Given the description of an element on the screen output the (x, y) to click on. 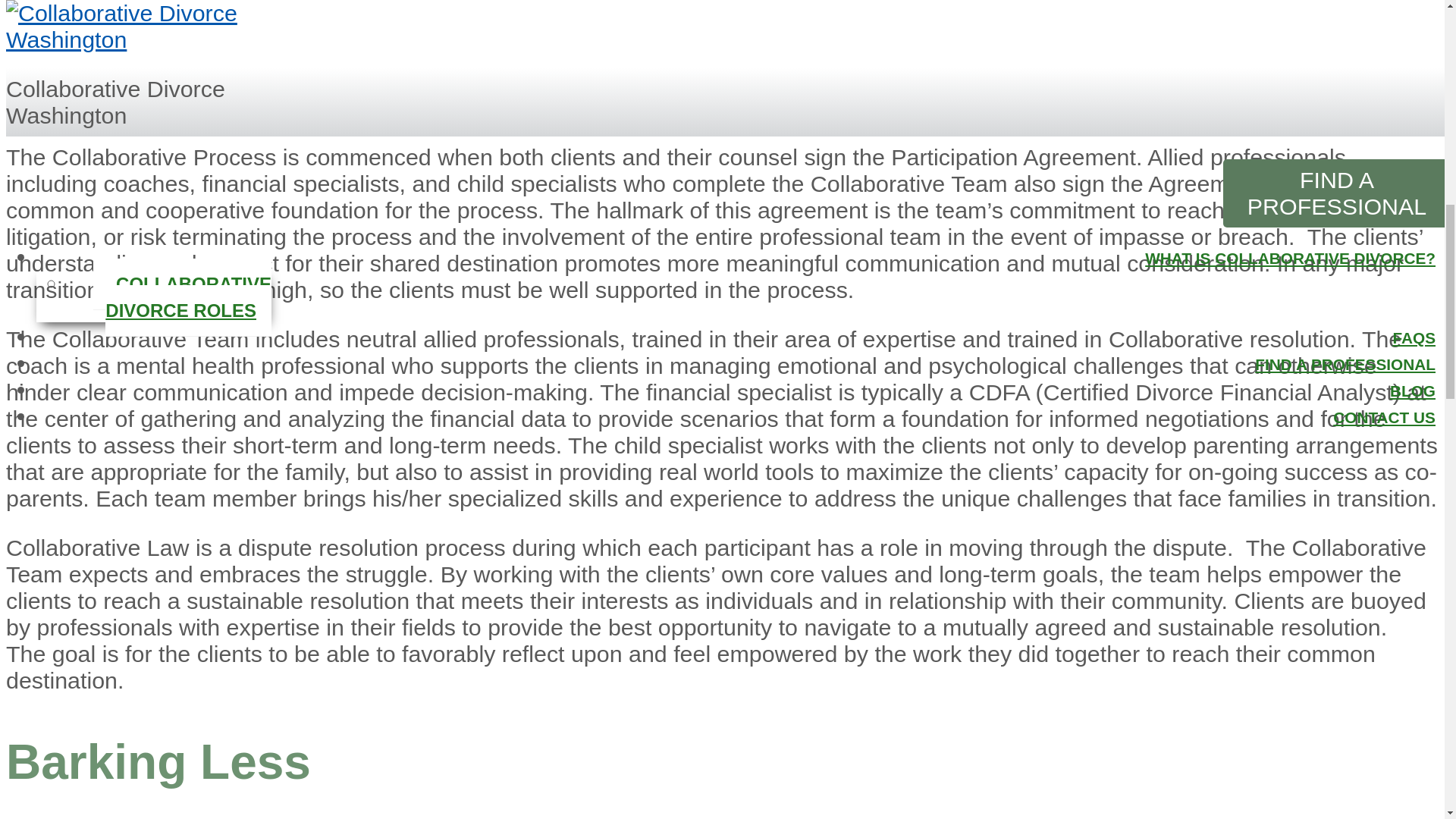
Barking Less (158, 761)
